Given the description of an element on the screen output the (x, y) to click on. 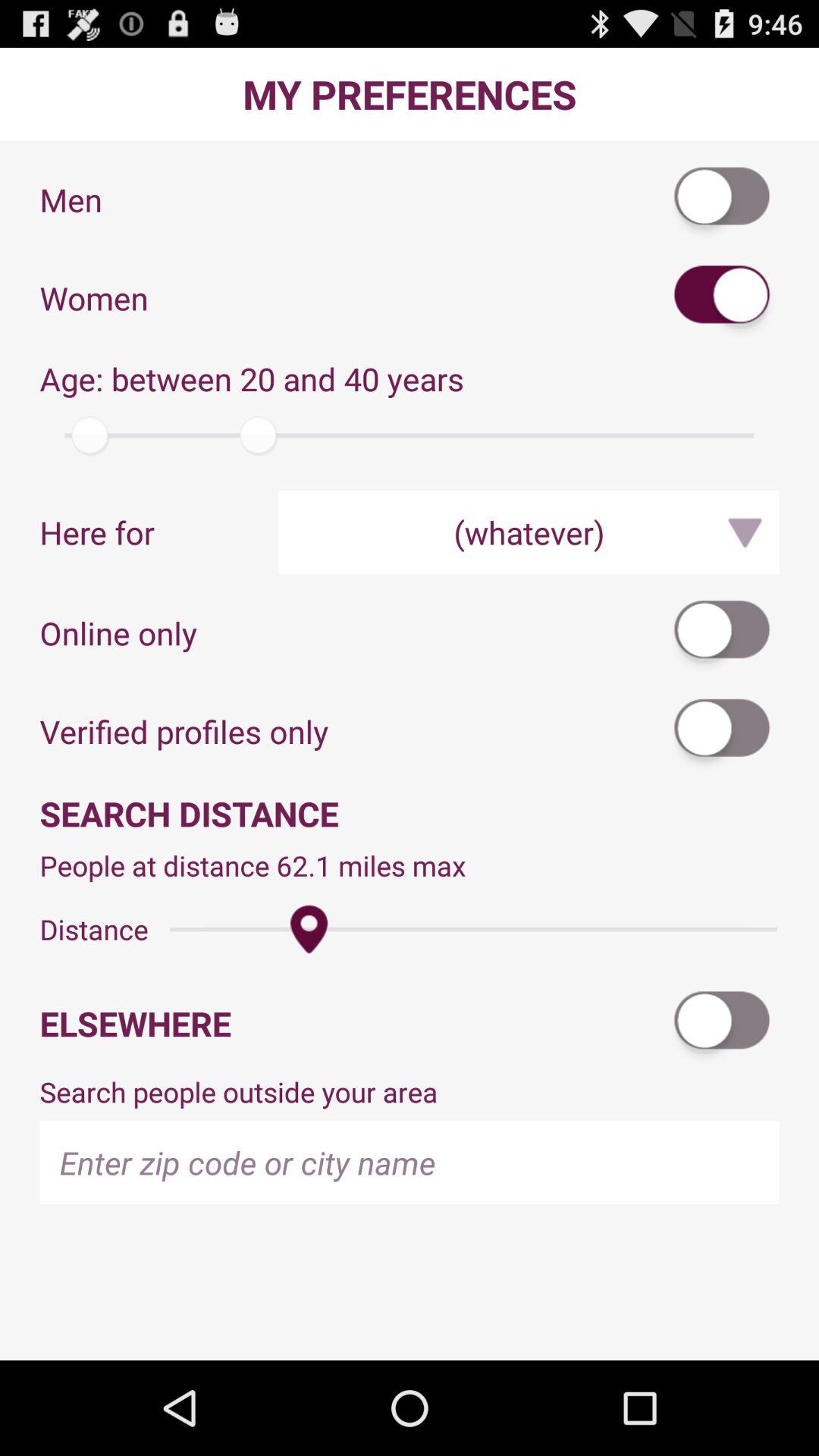
toggle search option (722, 1023)
